Given the description of an element on the screen output the (x, y) to click on. 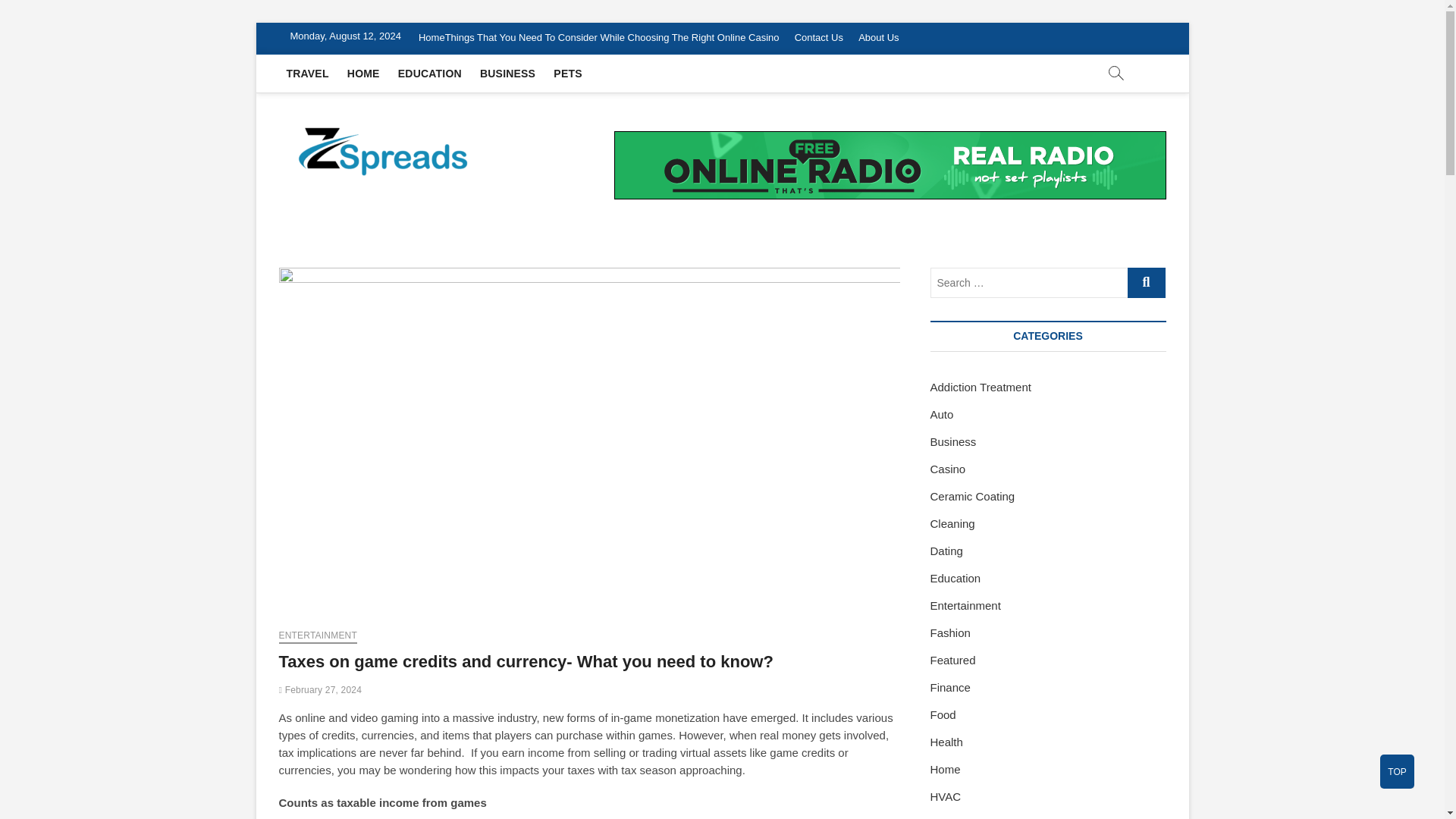
Dating (946, 550)
Contact Us (818, 37)
Featured (952, 659)
Food (942, 714)
Industrial (952, 818)
ZSpreads (539, 143)
Entertainment (965, 604)
Education (954, 577)
HVAC (945, 796)
BUSINESS (507, 73)
